Given the description of an element on the screen output the (x, y) to click on. 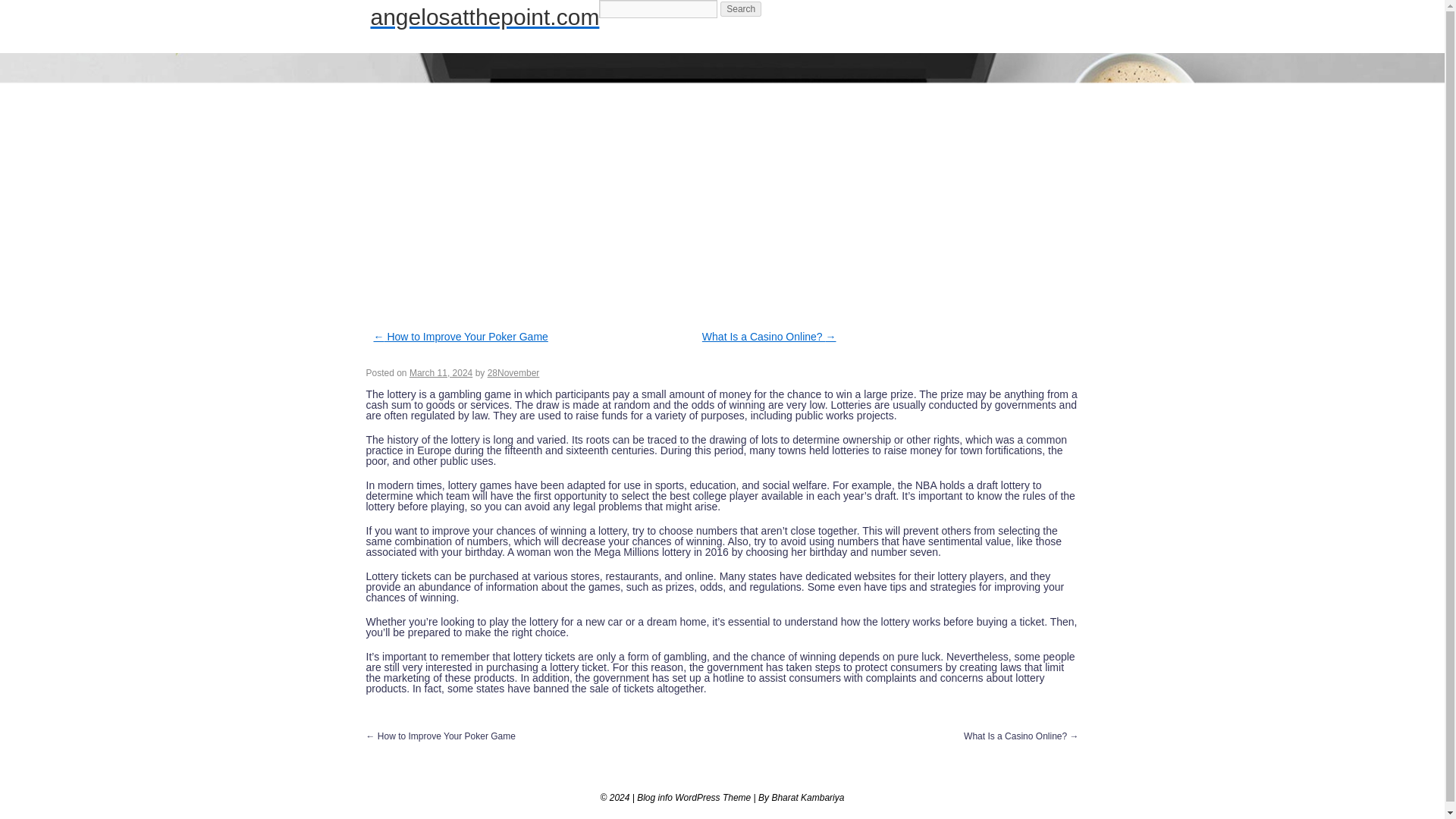
Search (740, 8)
Search (740, 8)
View all posts by 28November (513, 372)
angelosatthepoint.com (483, 16)
28November (513, 372)
9:06 am (440, 372)
March 11, 2024 (440, 372)
